Given the description of an element on the screen output the (x, y) to click on. 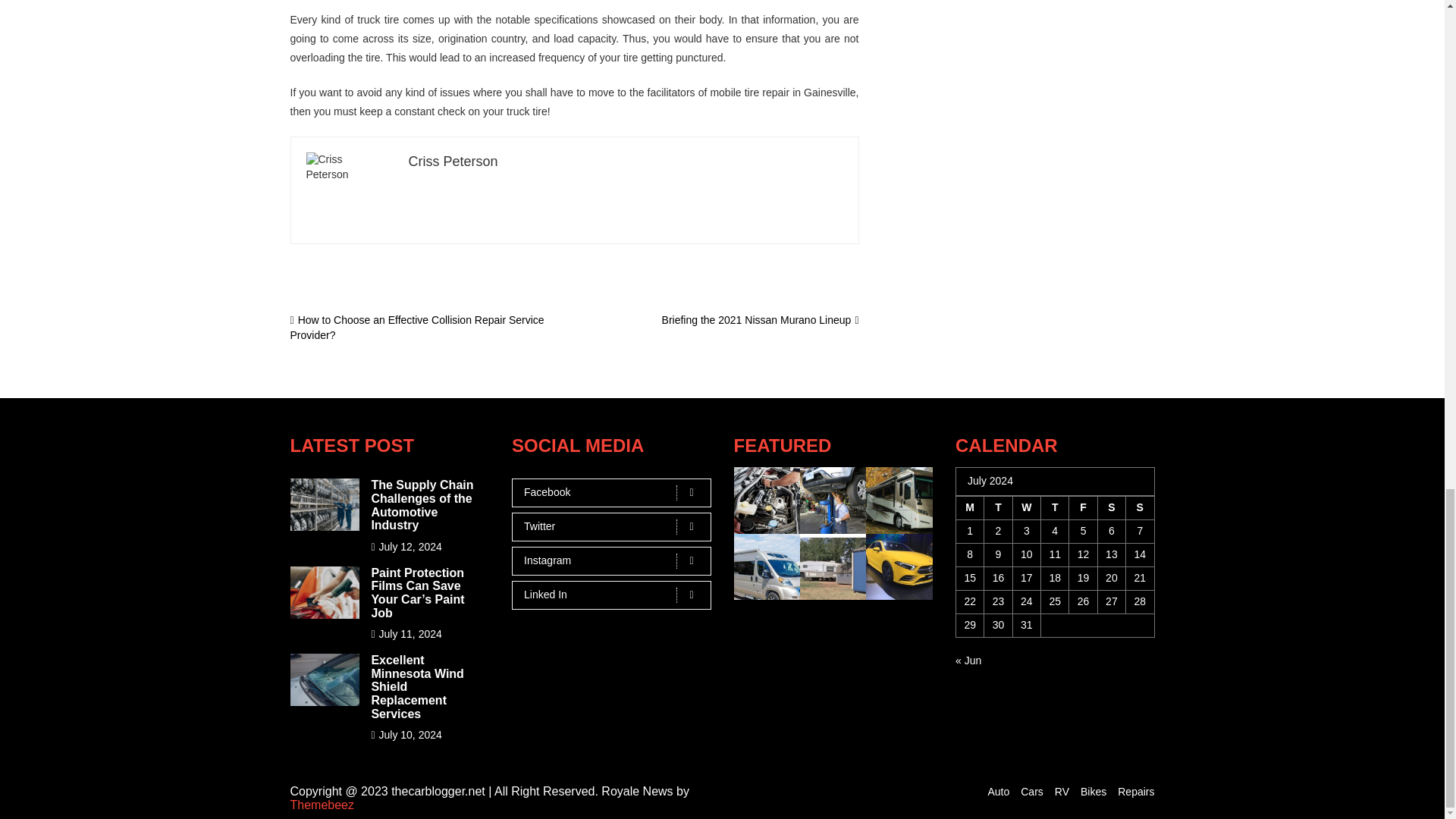
Criss Peterson (452, 160)
Wednesday (1026, 508)
Saturday (1111, 508)
Friday (1082, 508)
Tuesday (997, 508)
Sunday (1139, 508)
Thursday (1054, 508)
Briefing the 2021 Nissan Murano Lineup (760, 319)
Monday (969, 508)
